Given the description of an element on the screen output the (x, y) to click on. 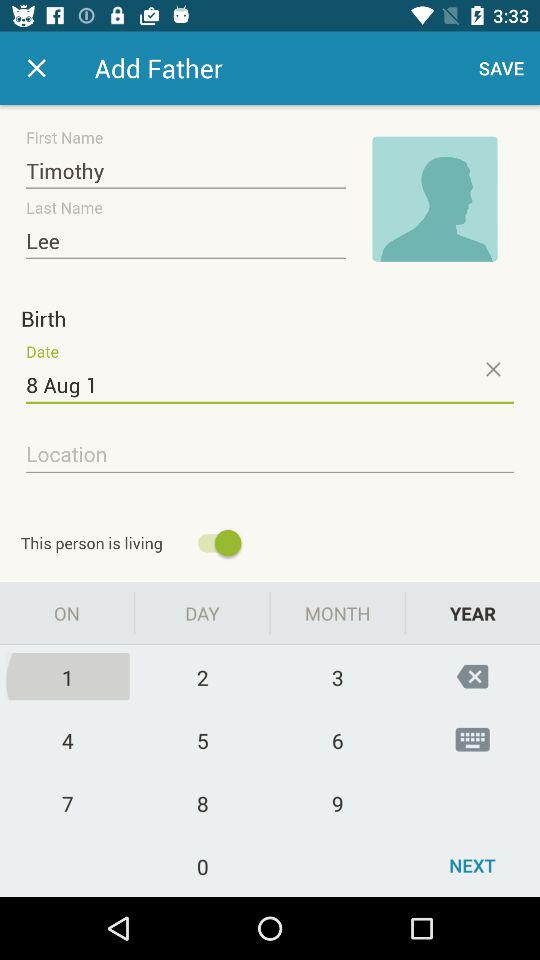
focus on location field (270, 455)
